Given the description of an element on the screen output the (x, y) to click on. 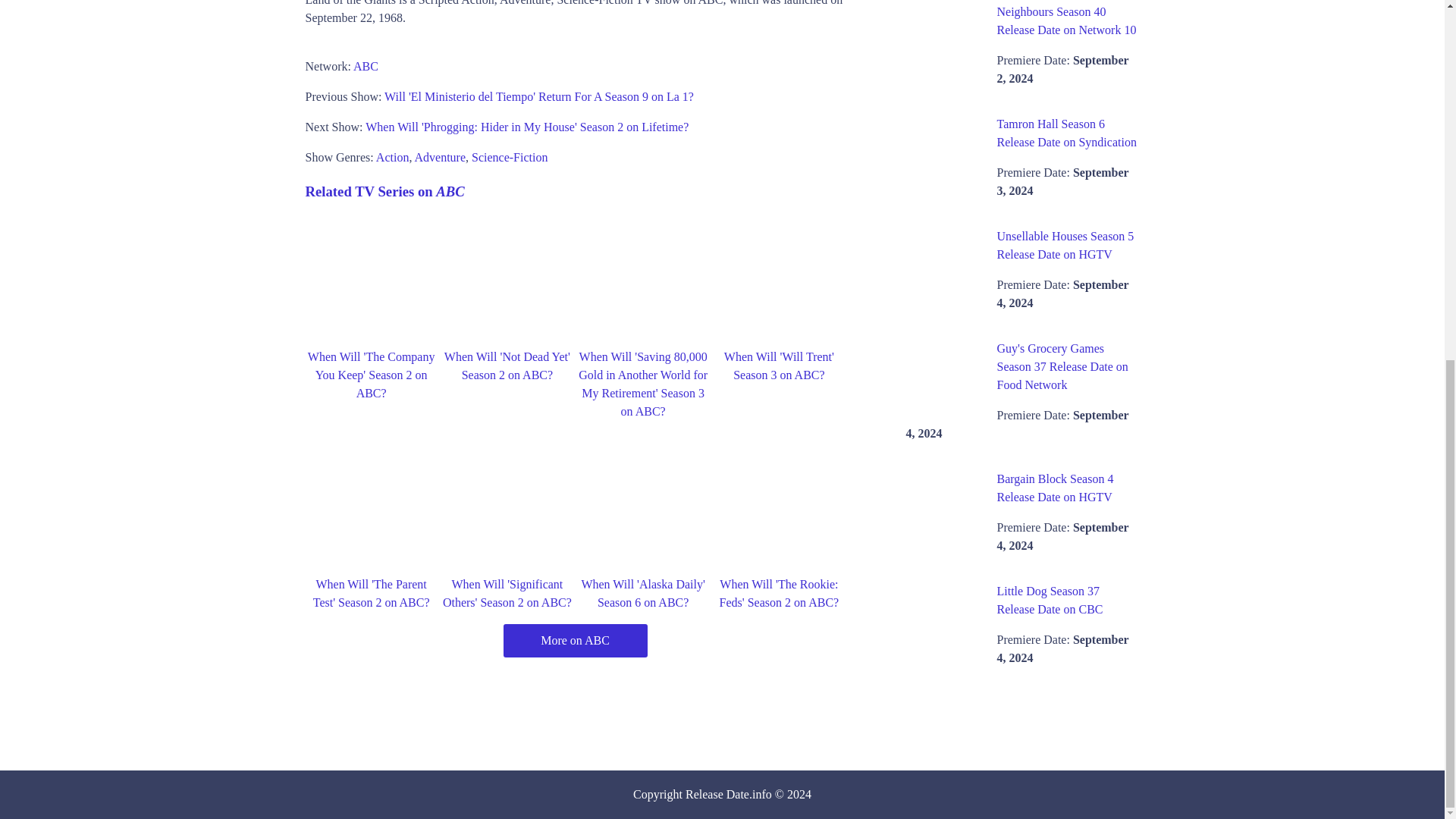
Science-Fiction (509, 156)
Action (392, 156)
Adventure (439, 156)
When Will 'The Rookie: Feds' Season 2 on ABC? (779, 593)
When Will 'The Company You Keep' Season 2 on ABC? (371, 374)
When Will 'The Parent Test' Season 2 on ABC? (371, 593)
When Will 'Not Dead Yet' Season 2 on ABC? (507, 365)
When Will 'Will Trent' Season 3 on ABC? (778, 365)
When Will 'Alaska Daily' Season 6 on ABC? (642, 593)
